Given the description of an element on the screen output the (x, y) to click on. 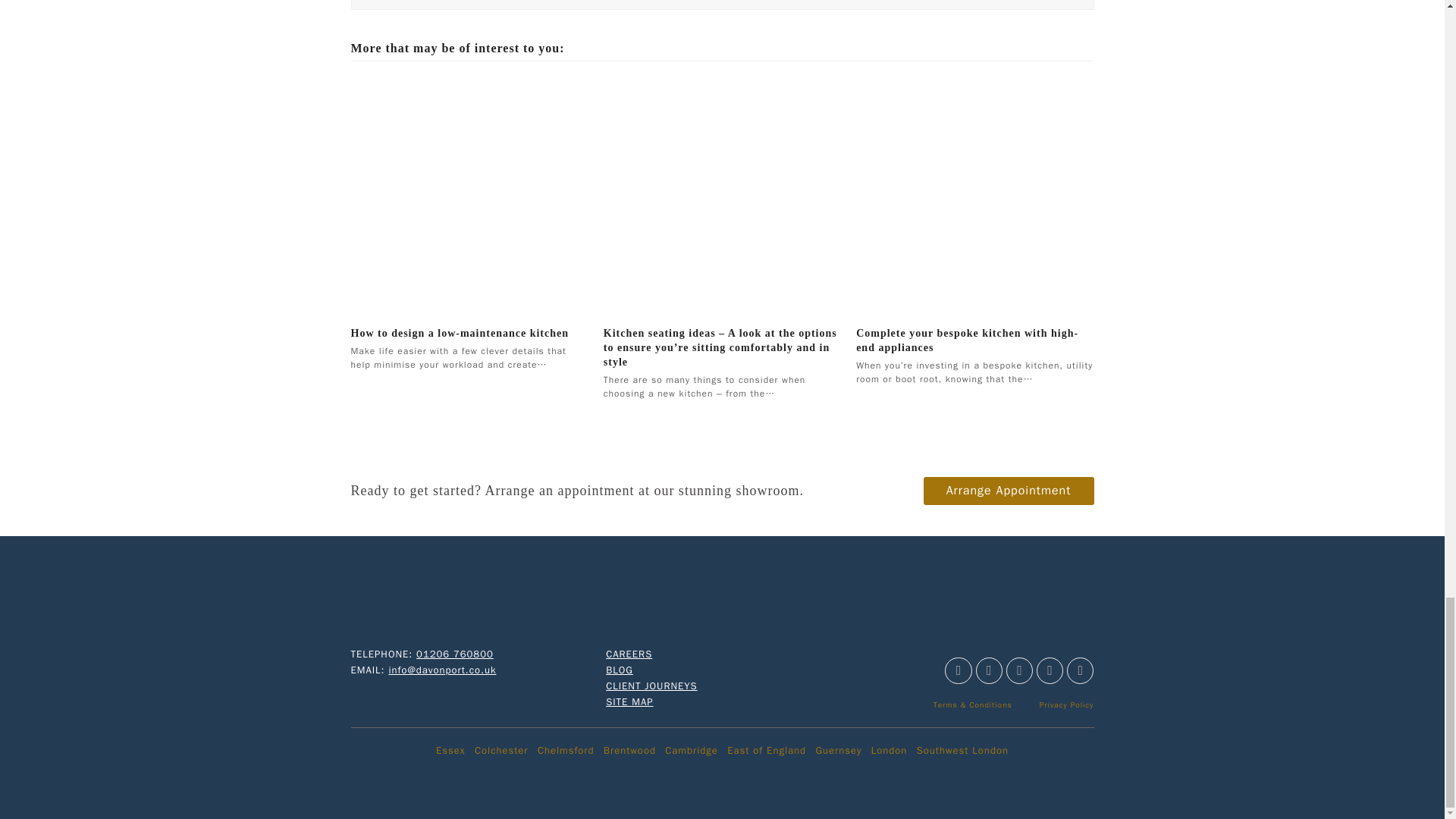
Facebook (957, 670)
How to design a low-maintenance kitchen (459, 333)
Arrange Appointment (1008, 490)
CAREERS (628, 653)
Complete your bespoke kitchen with high-end appliances (974, 194)
LinkedIn (1080, 670)
Complete your bespoke kitchen with high-end appliances (967, 339)
BLOG (619, 669)
Pinterest (1019, 670)
CLIENT JOURNEYS (651, 685)
Luxury kitchens for South West London (963, 749)
Instagram (989, 670)
Houzz (1049, 670)
01206 760800 (454, 653)
How to design a low-maintenance kitchen (469, 194)
